Given the description of an element on the screen output the (x, y) to click on. 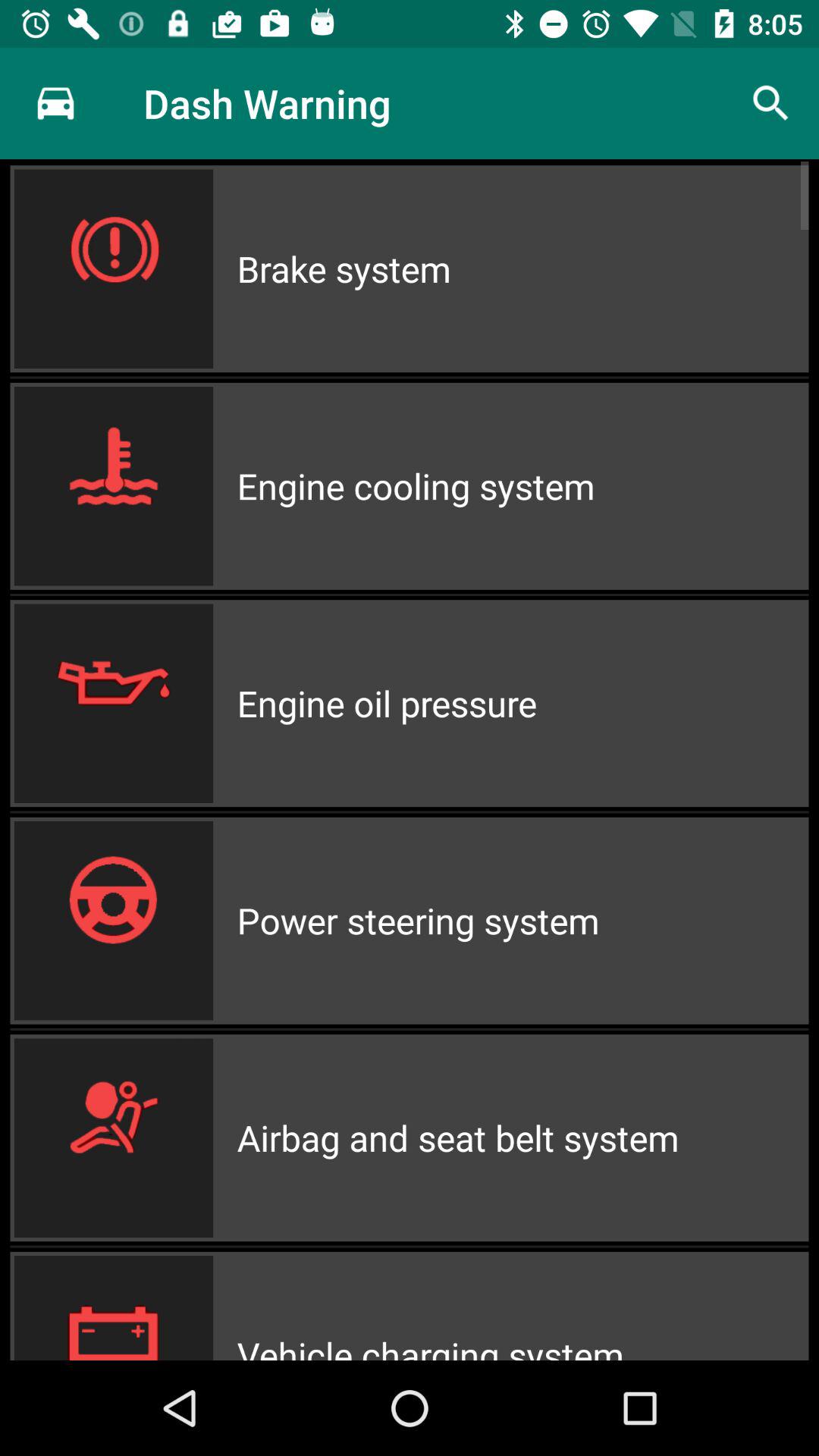
press engine oil pressure icon (522, 703)
